Given the description of an element on the screen output the (x, y) to click on. 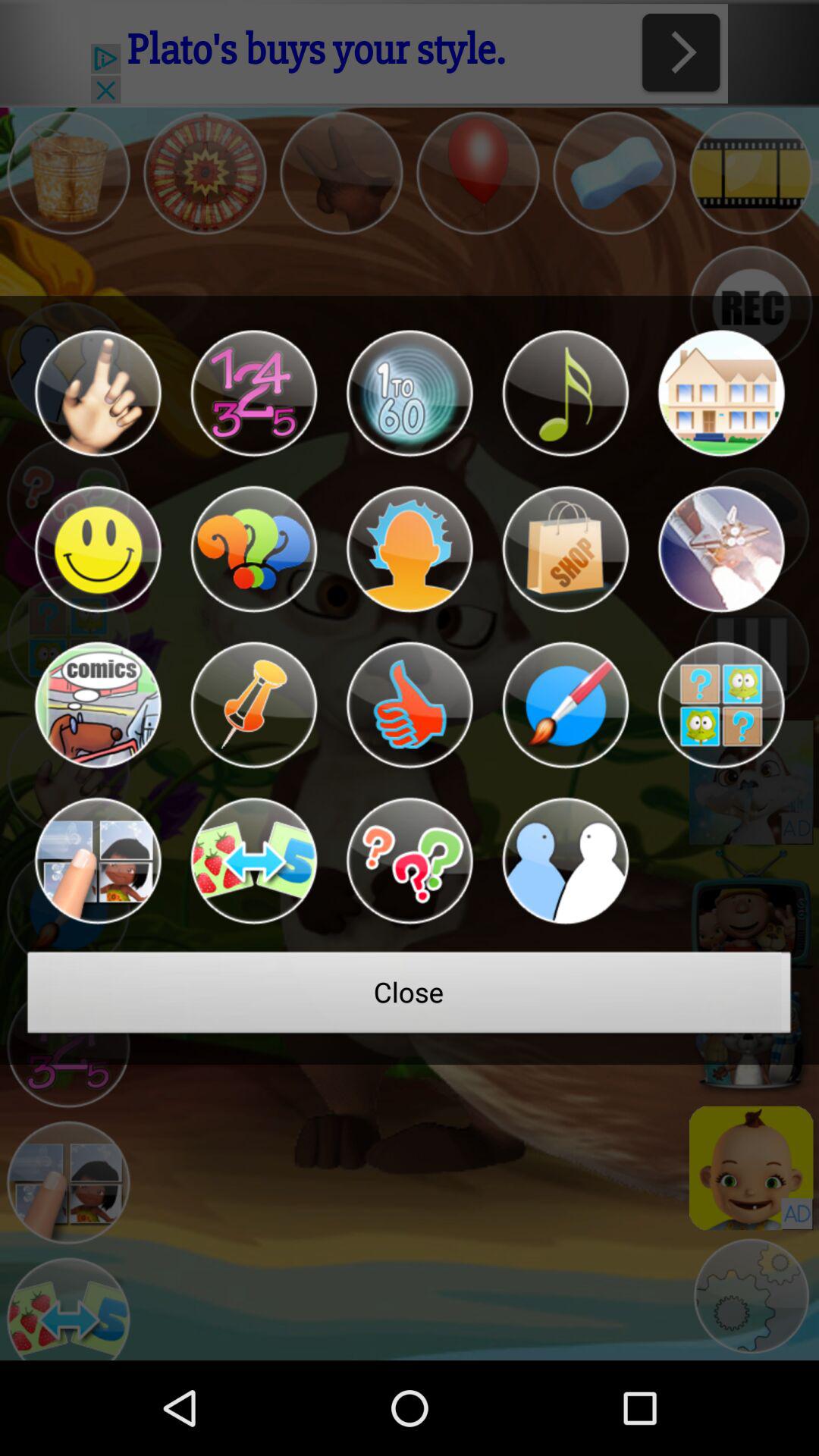
pin something (253, 705)
